Given the description of an element on the screen output the (x, y) to click on. 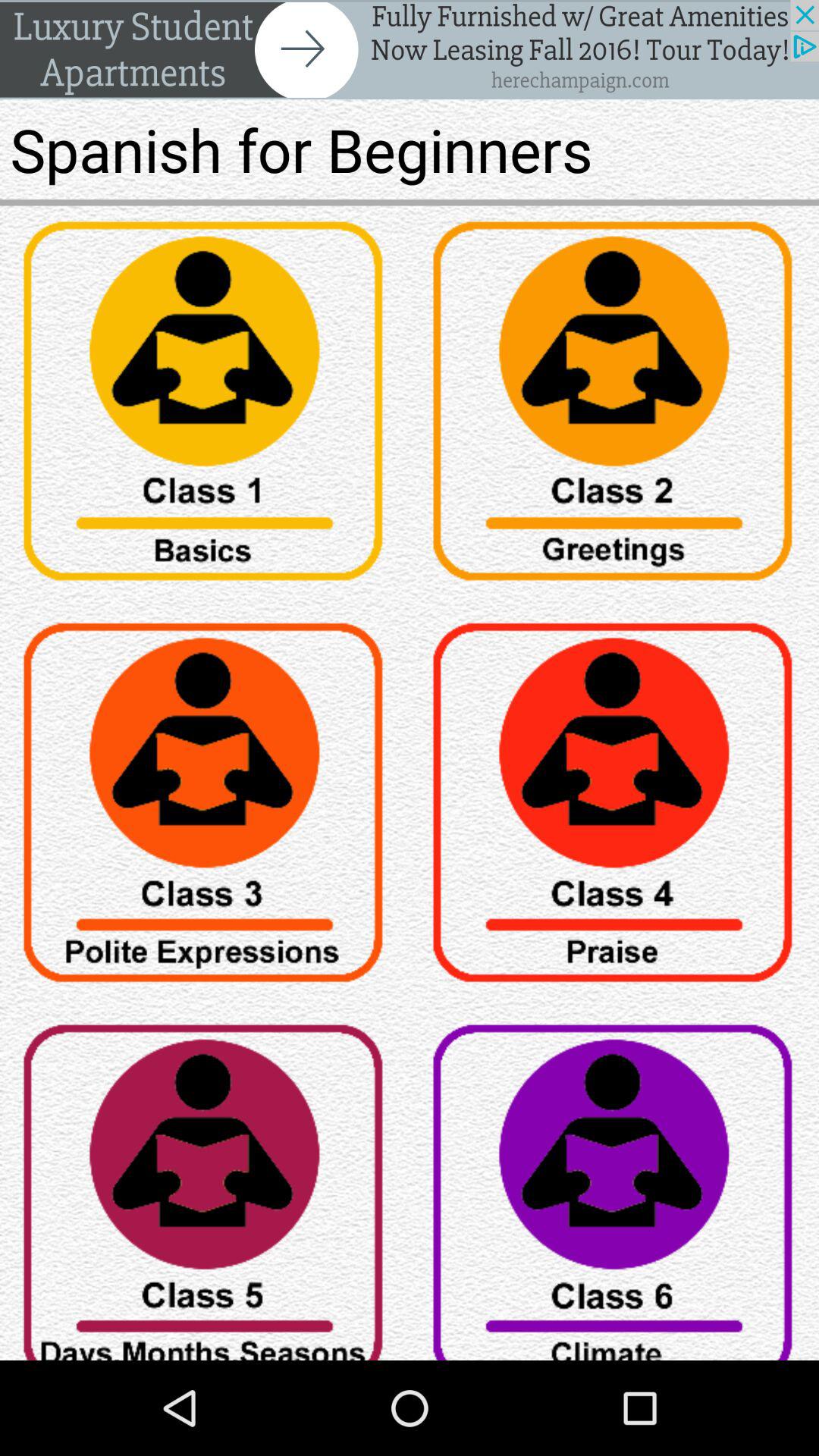
do the test (614, 406)
